Given the description of an element on the screen output the (x, y) to click on. 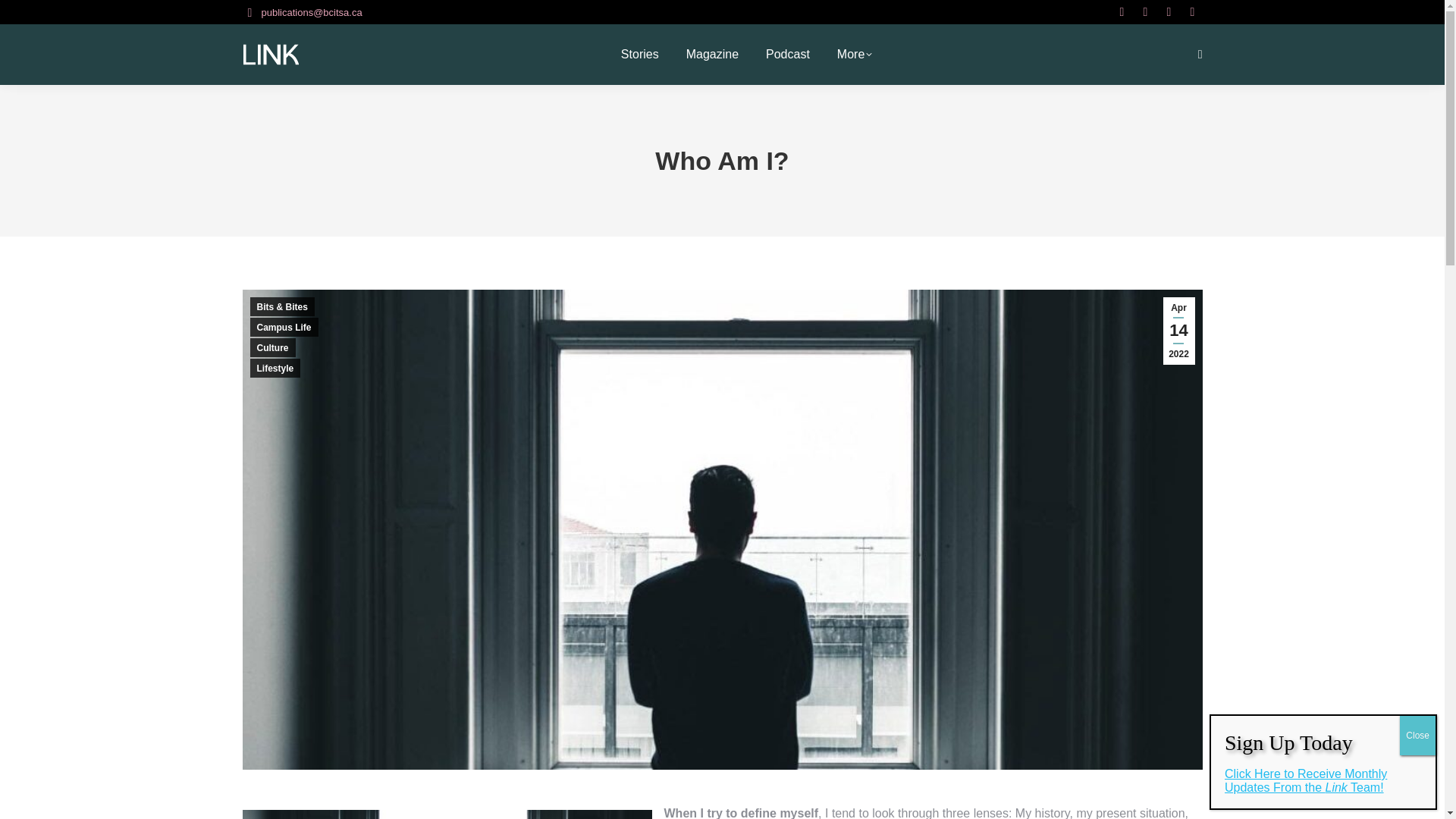
Linkedin page opens in new window (1145, 12)
Facebook page opens in new window (1167, 12)
YouTube page opens in new window (1192, 12)
Magazine (711, 54)
Facebook page opens in new window (1167, 12)
Linkedin page opens in new window (1145, 12)
YouTube page opens in new window (1192, 12)
Instagram page opens in new window (1121, 12)
More (854, 54)
Podcast (787, 54)
